Given the description of an element on the screen output the (x, y) to click on. 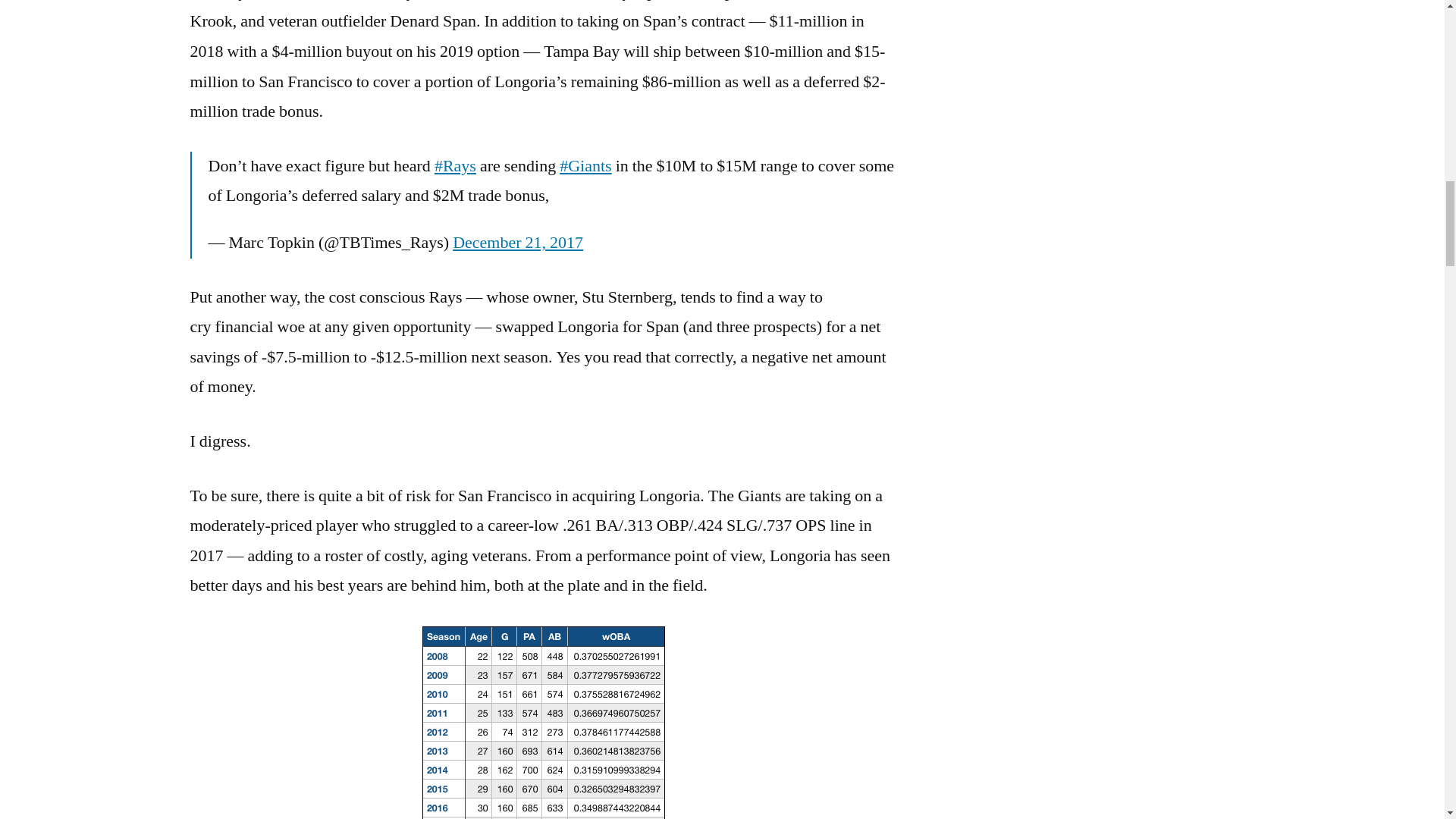
December 21, 2017 (517, 242)
